Given the description of an element on the screen output the (x, y) to click on. 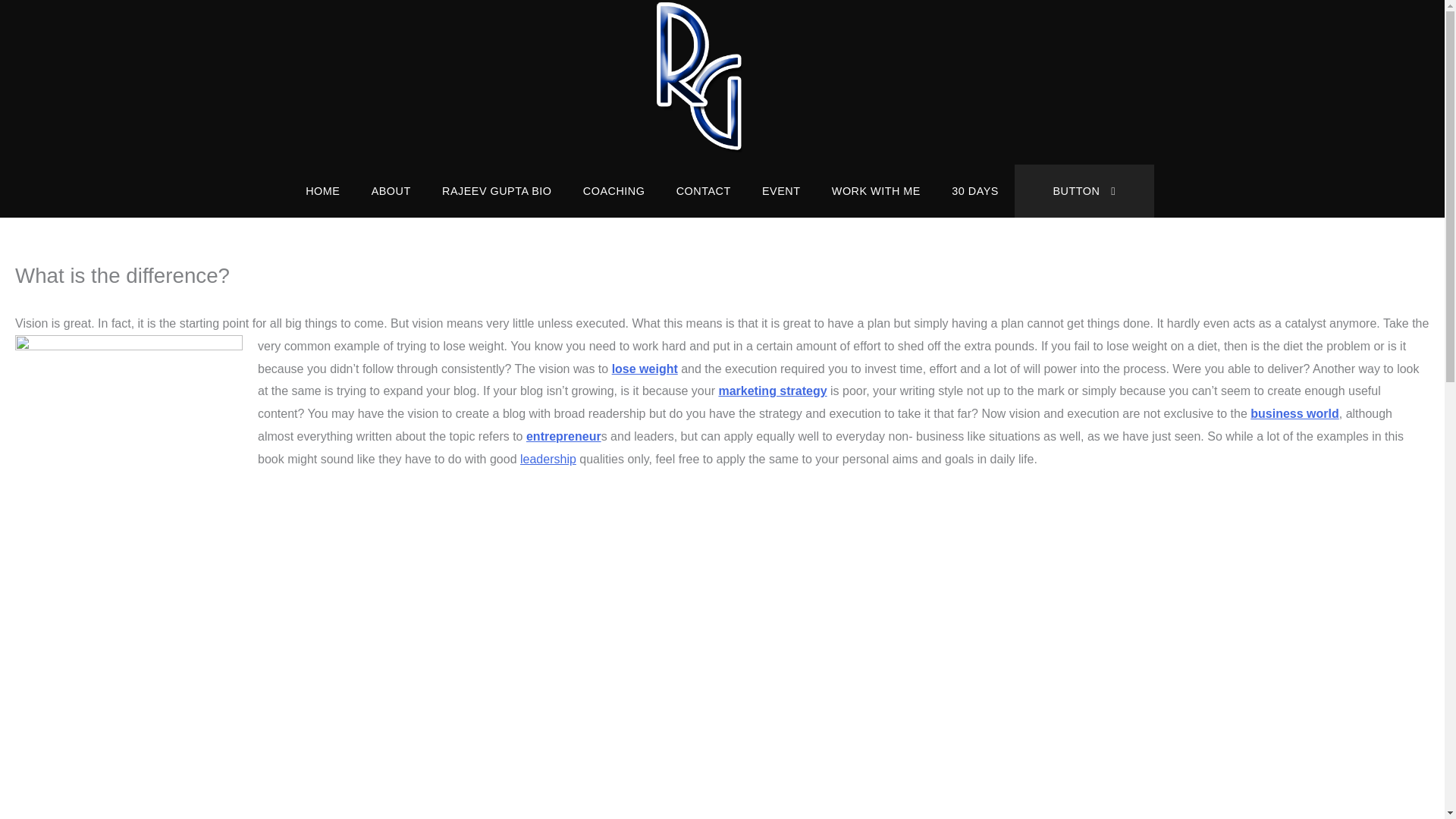
CONTACT (703, 190)
ABOUT (390, 190)
EVENT (780, 190)
WORK WITH ME (875, 190)
RAJEEV GUPTA BIO (496, 190)
COACHING (614, 190)
30 DAYS (975, 190)
HOME (322, 190)
